Given the description of an element on the screen output the (x, y) to click on. 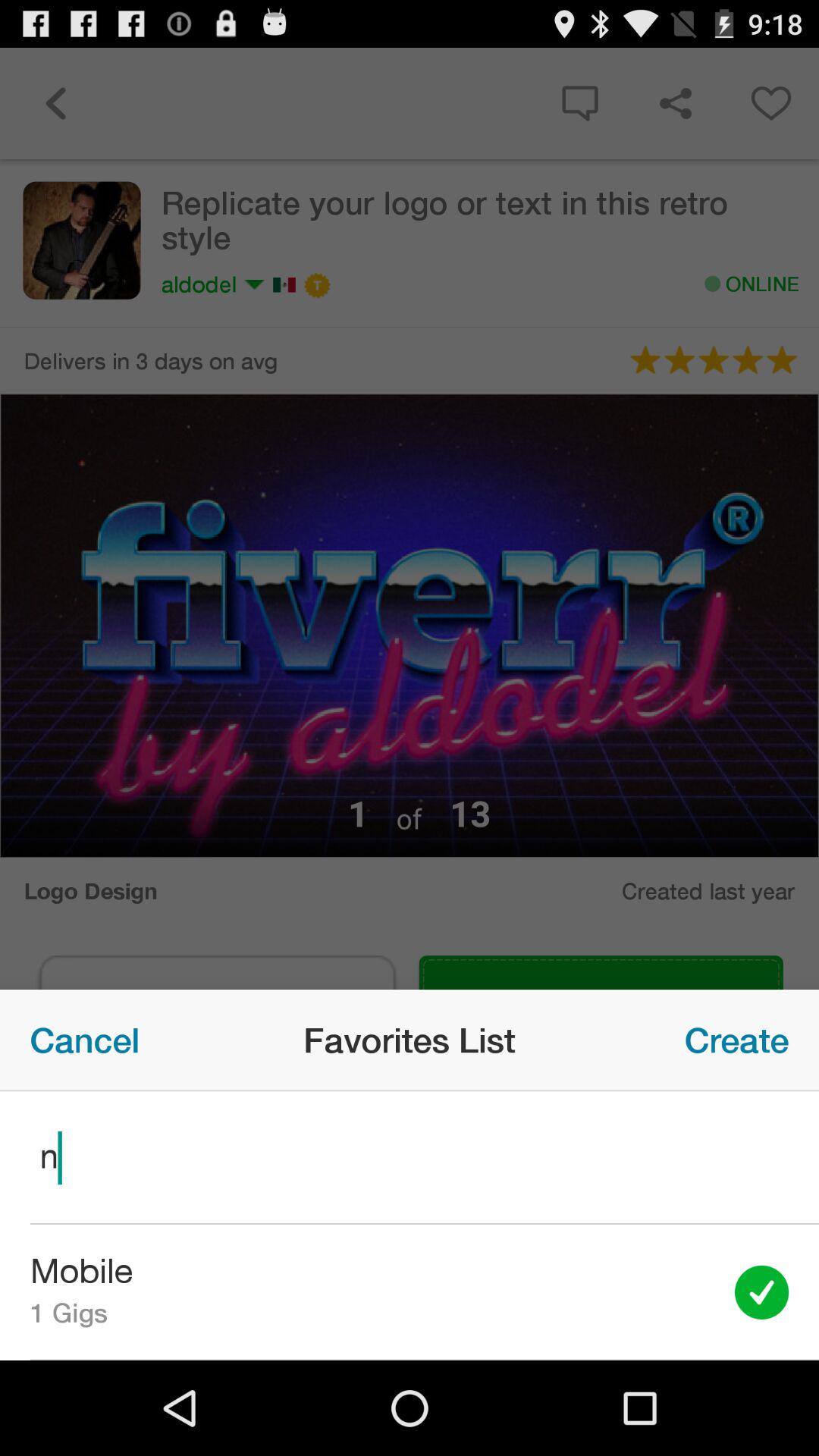
flip to the n (409, 1157)
